Given the description of an element on the screen output the (x, y) to click on. 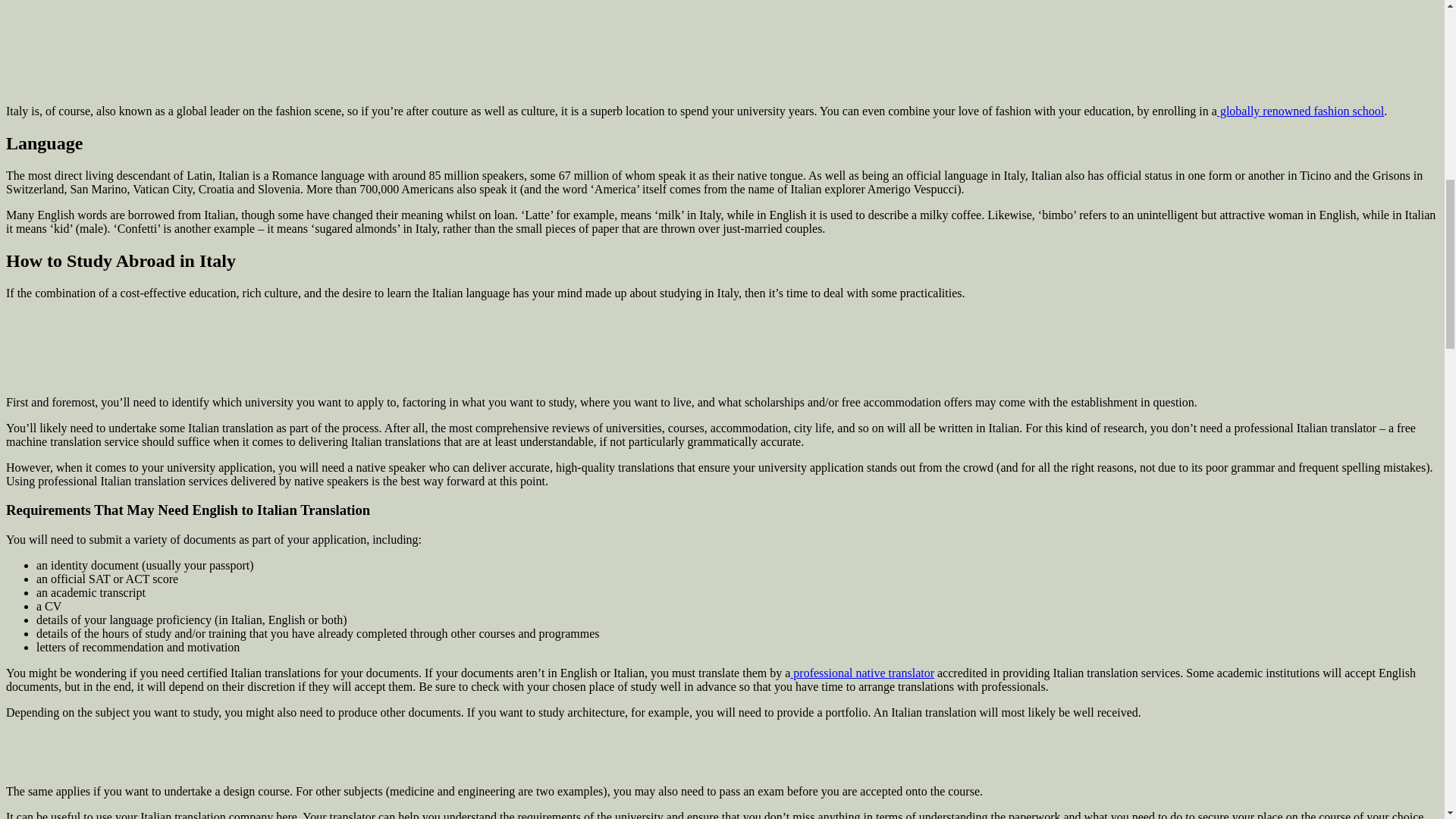
professional native translator (862, 672)
globally renowned fashion school (1300, 110)
